Given the description of an element on the screen output the (x, y) to click on. 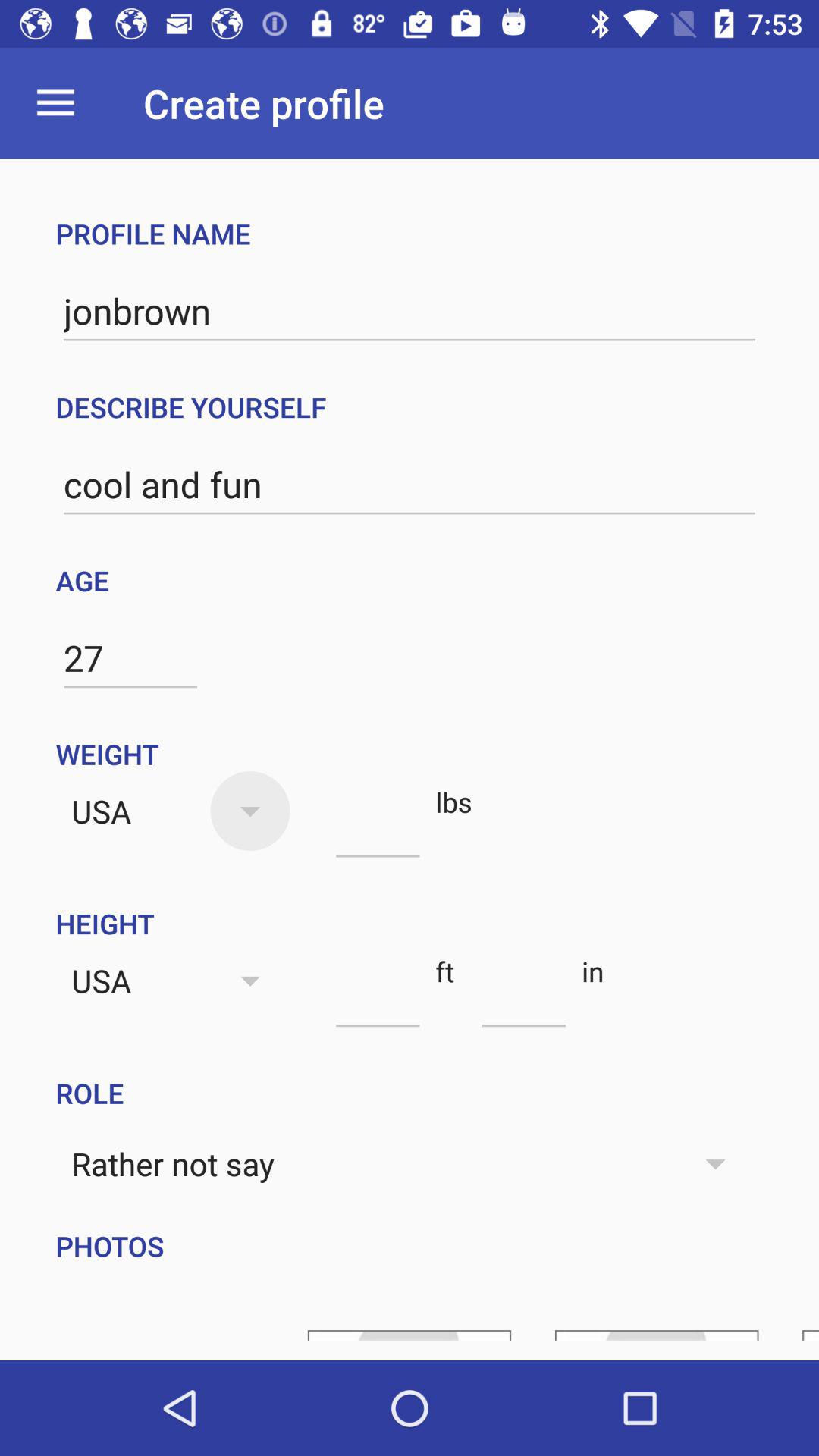
open item below the age icon (130, 658)
